Given the description of an element on the screen output the (x, y) to click on. 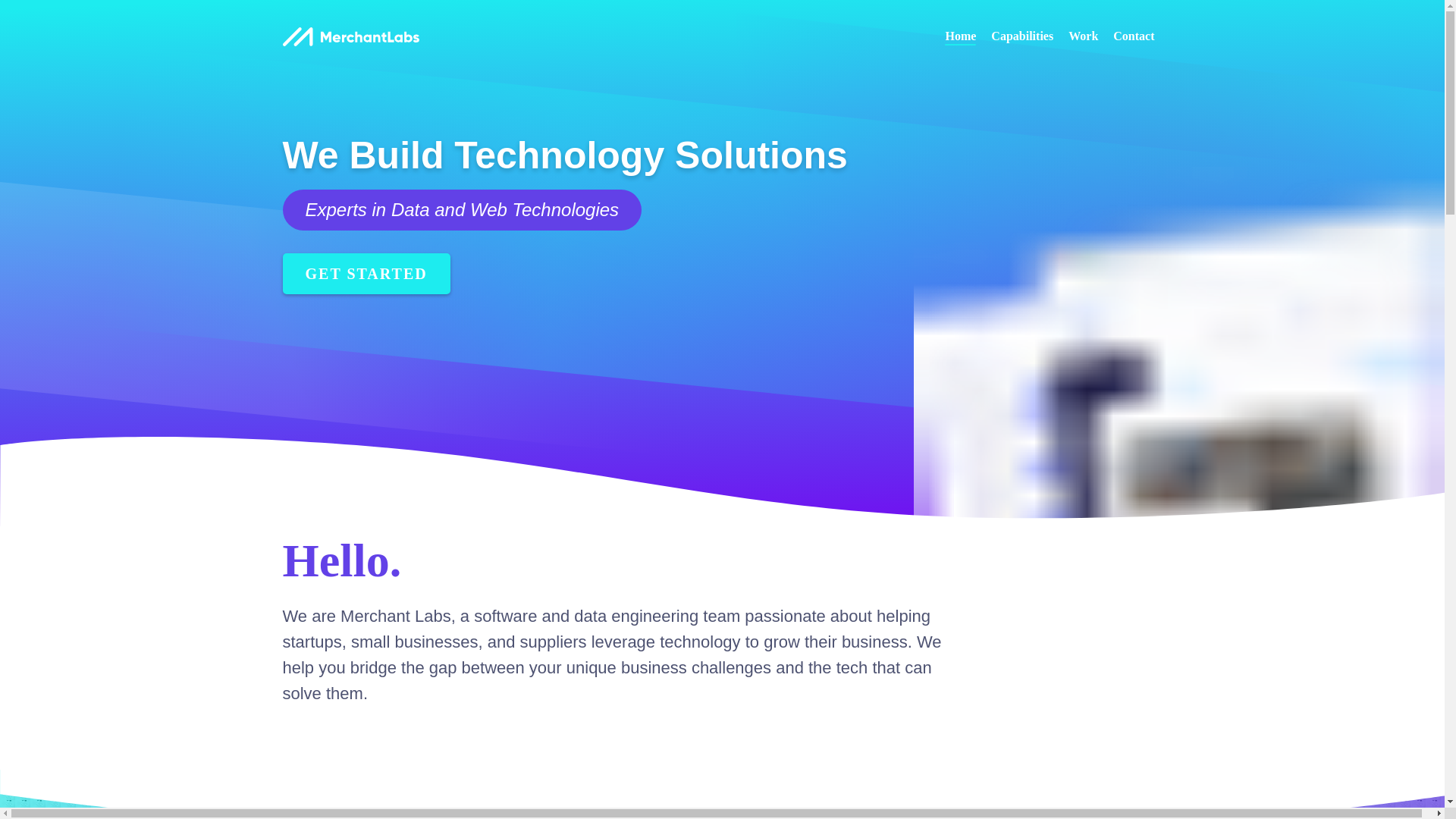
GET STARTED (365, 273)
Home (959, 37)
Contact (1133, 37)
Work (1082, 37)
Capabilities (1021, 37)
